Given the description of an element on the screen output the (x, y) to click on. 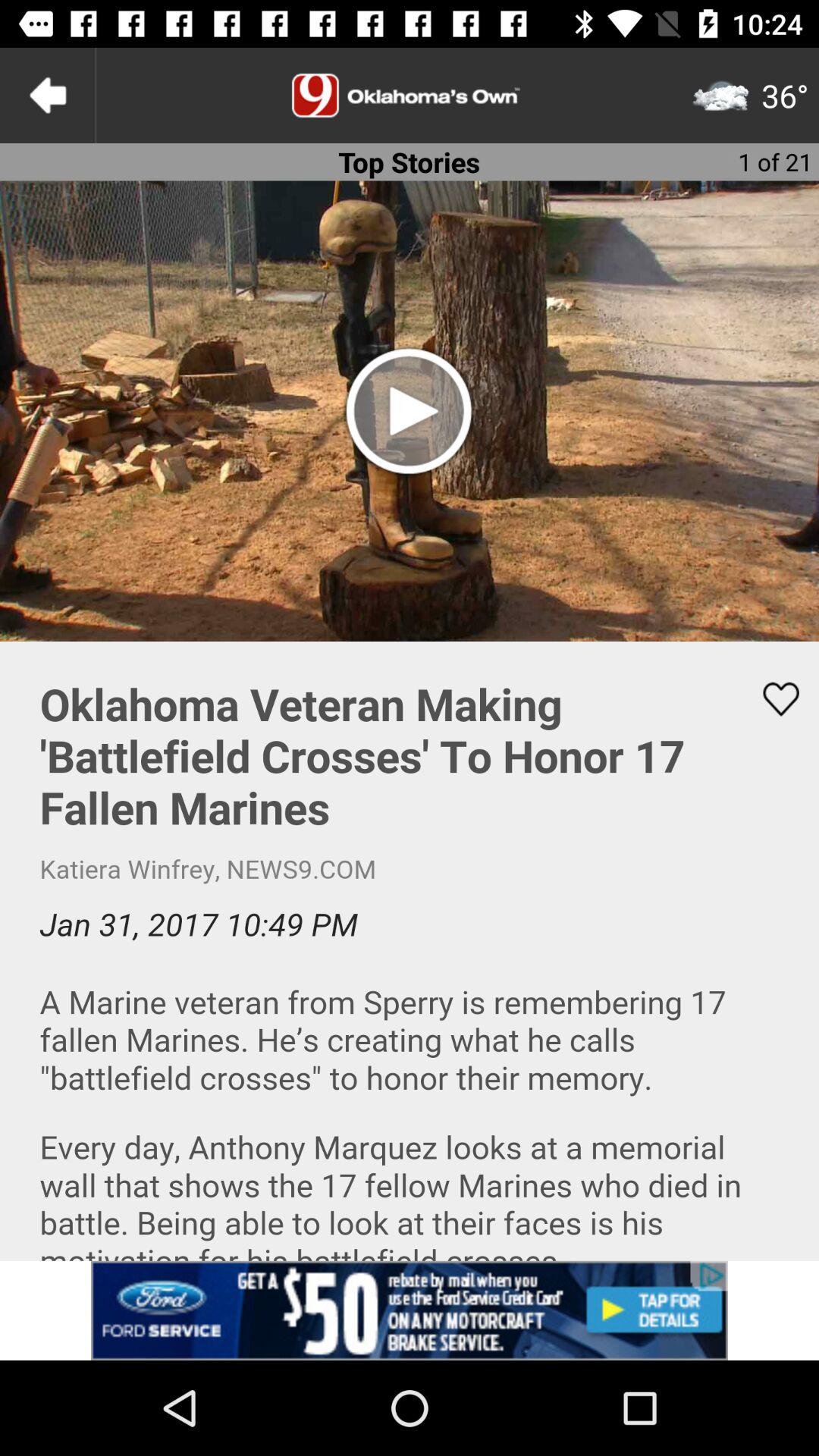
favourite (771, 699)
